Given the description of an element on the screen output the (x, y) to click on. 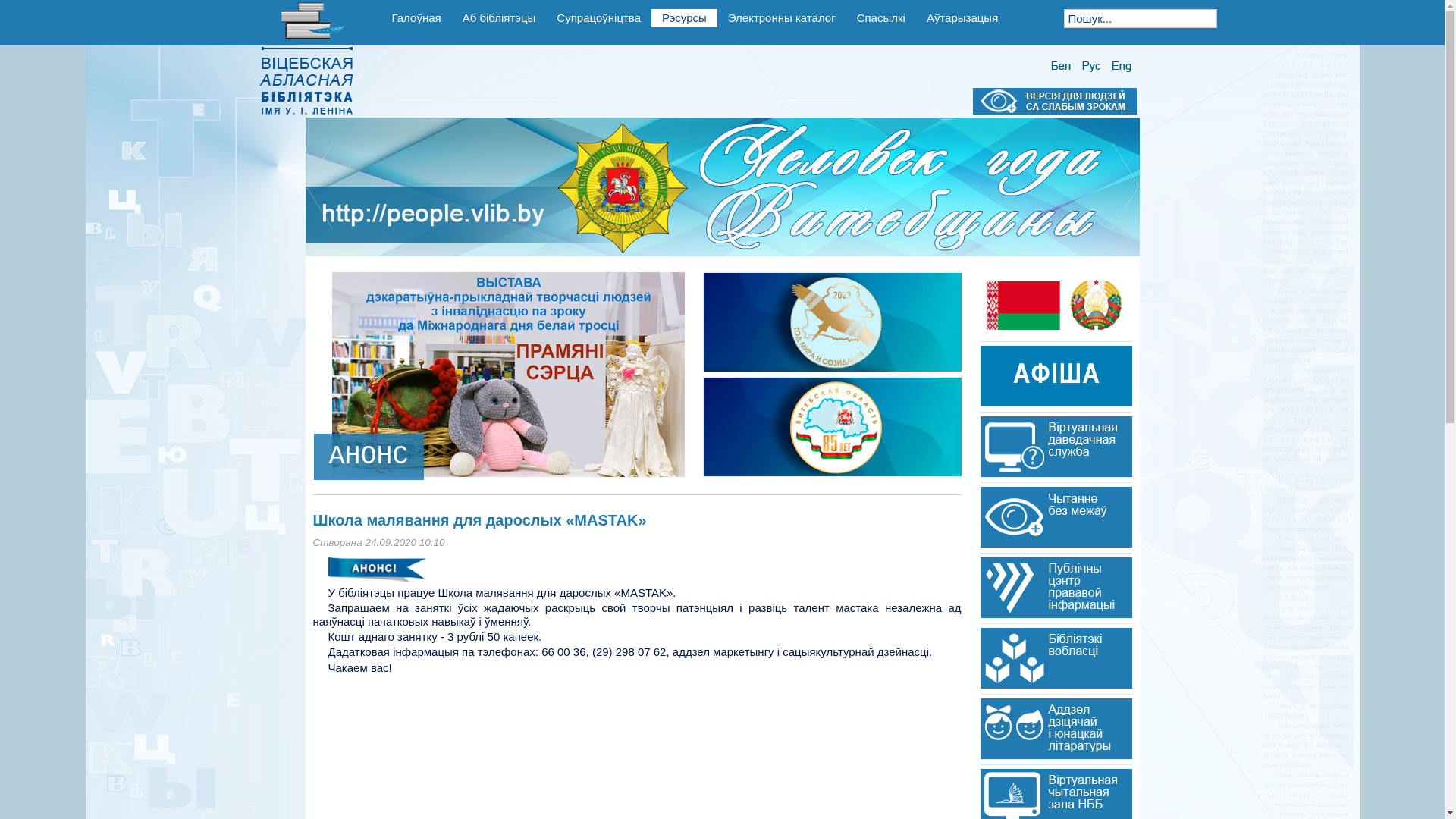
Belarusian(BY) Element type: hover (1060, 66)
Russian(RU) Element type: hover (1091, 66)
English (UK) Element type: hover (1121, 66)
